Given the description of an element on the screen output the (x, y) to click on. 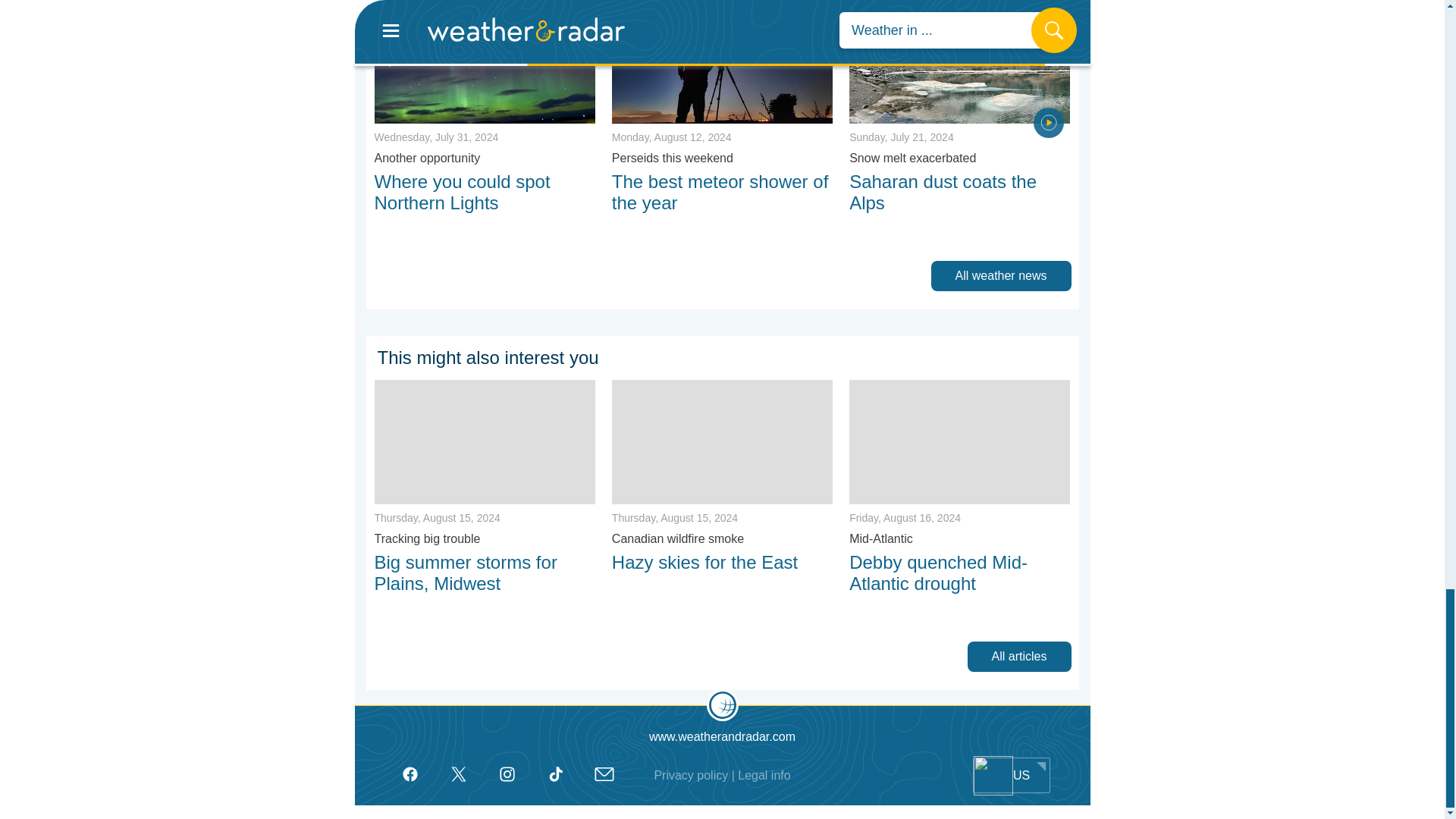
All weather news (1004, 275)
Legal info (764, 775)
All articles (1023, 656)
Privacy policy (690, 775)
